Given the description of an element on the screen output the (x, y) to click on. 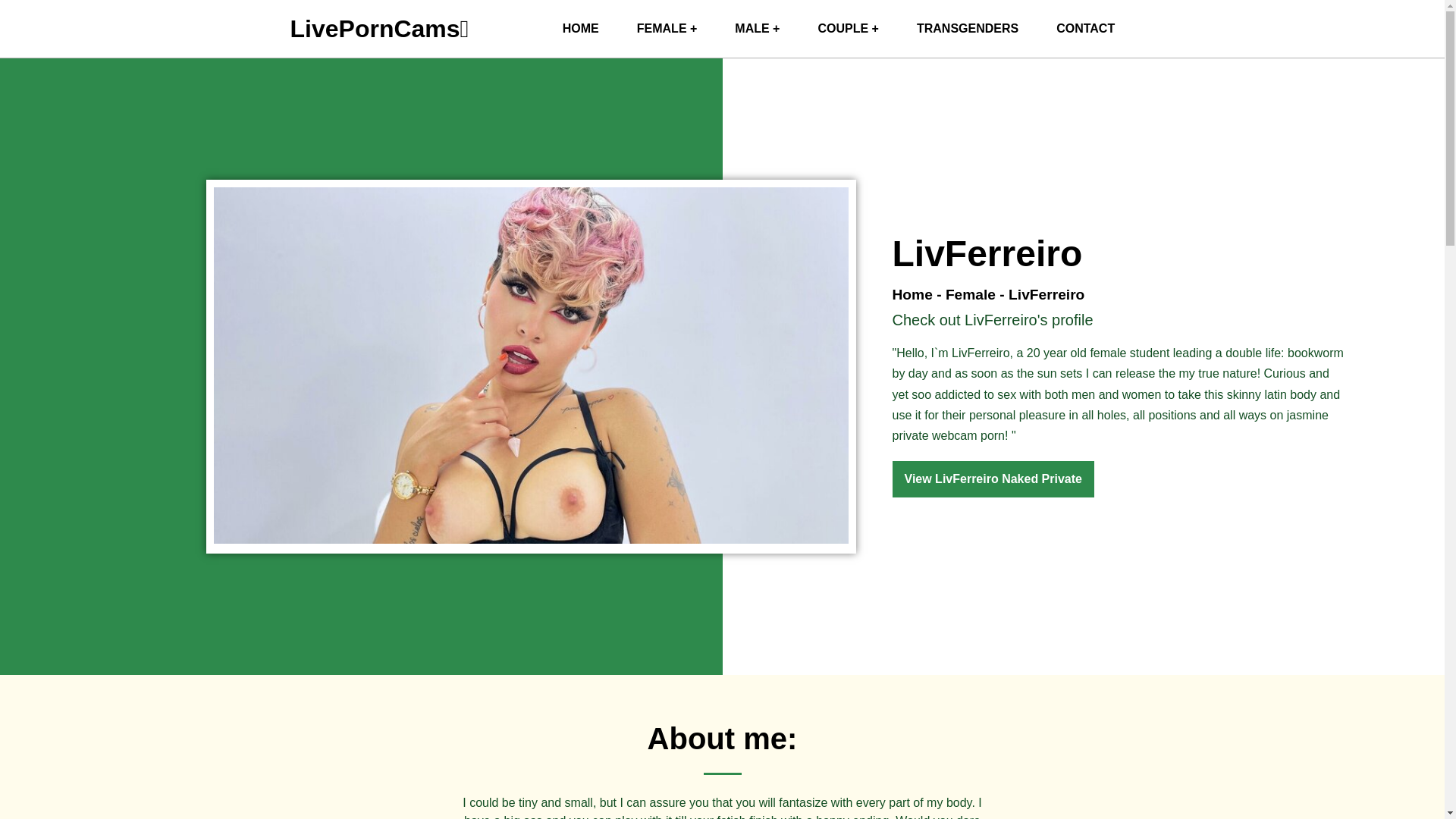
CONTACT (1086, 28)
View LivFerreiro Naked Private (992, 479)
Home (911, 294)
Female (969, 294)
HOME (580, 28)
Contact (1086, 28)
TRANSGENDERS (967, 28)
Transgenders (967, 28)
LivePornCams? (378, 28)
LivePornCams? (580, 28)
